Given the description of an element on the screen output the (x, y) to click on. 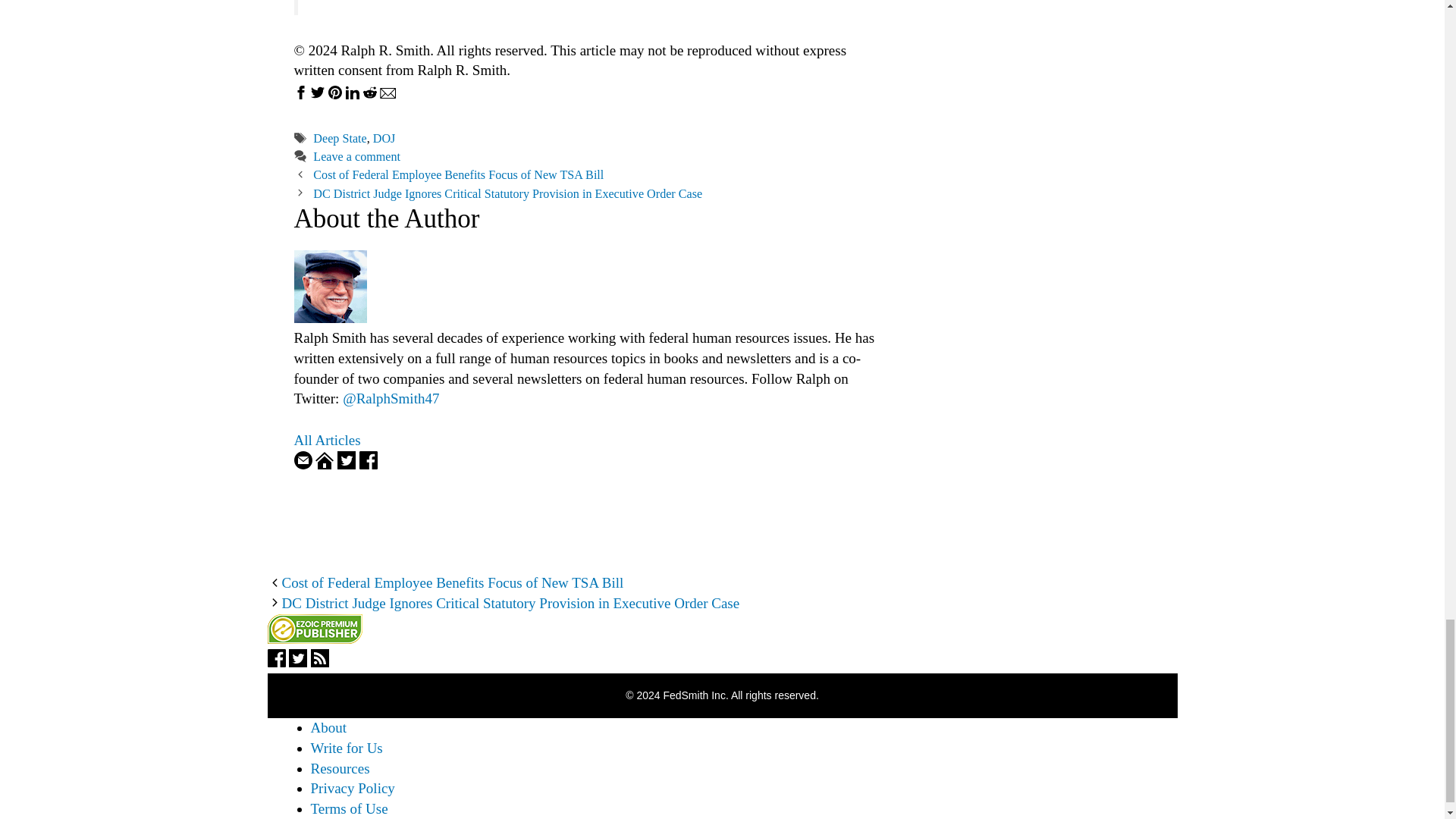
Leave a comment (356, 155)
Follow FedSmith on Facebook (275, 662)
See all articles from Ralph R. Smith (327, 439)
Deep State (339, 137)
DOJ (384, 137)
Cost of Federal Employee Benefits Focus of New TSA Bill (458, 174)
View all articles from Ralph R. Smith (330, 317)
Follow Ralph R. Smith on Facebook (368, 464)
Subscribe to our RSS feed (320, 662)
Visit website for Ralph R. Smith (324, 464)
Contact Ralph R. Smith (303, 464)
Follow Ralph R. Smith on Twitter (346, 464)
